Given the description of an element on the screen output the (x, y) to click on. 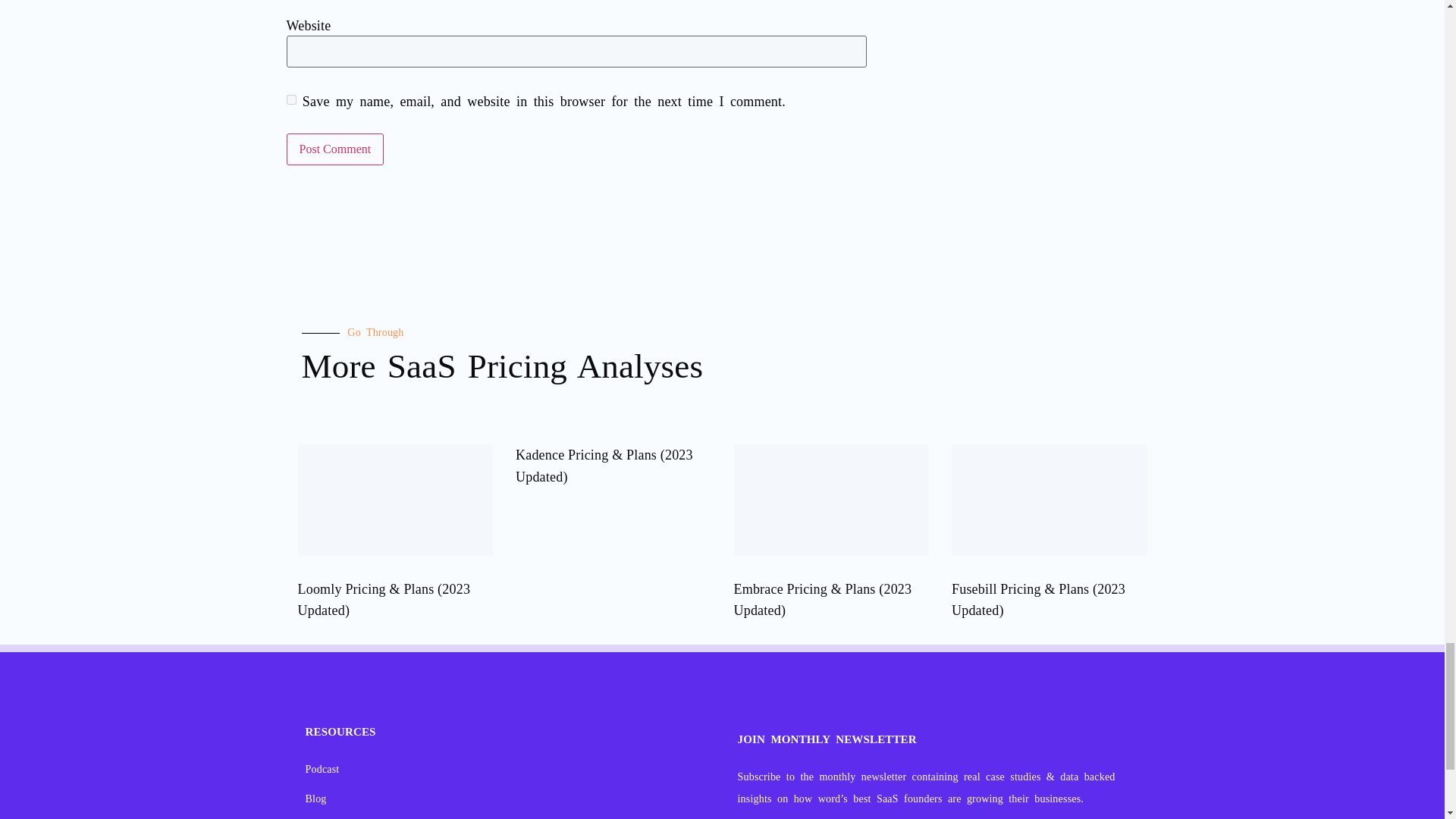
Post Comment (335, 149)
Blog (509, 798)
Post Comment (335, 149)
yes (291, 99)
Podcast (509, 769)
